Given the description of an element on the screen output the (x, y) to click on. 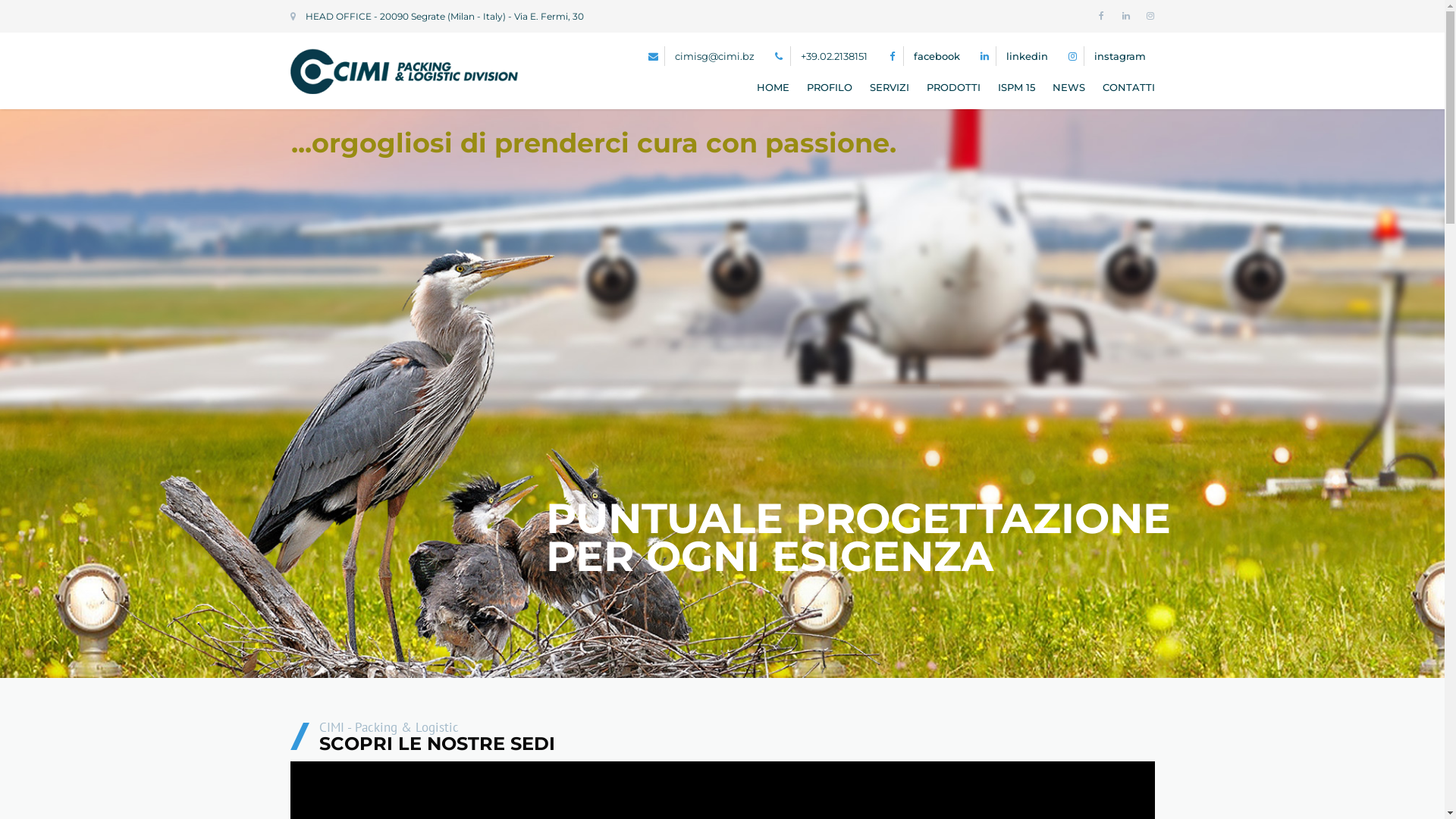
ISPM 15 Element type: text (1016, 86)
HOME Element type: text (773, 86)
SERVIZI Element type: text (888, 86)
NEWS Element type: text (1068, 86)
PRODOTTI Element type: text (953, 86)
PROFILO Element type: text (829, 86)
CONTATTI Element type: text (1124, 86)
facebook Element type: text (936, 56)
instagram Element type: text (1119, 56)
linkedin Element type: text (1026, 56)
